Given the description of an element on the screen output the (x, y) to click on. 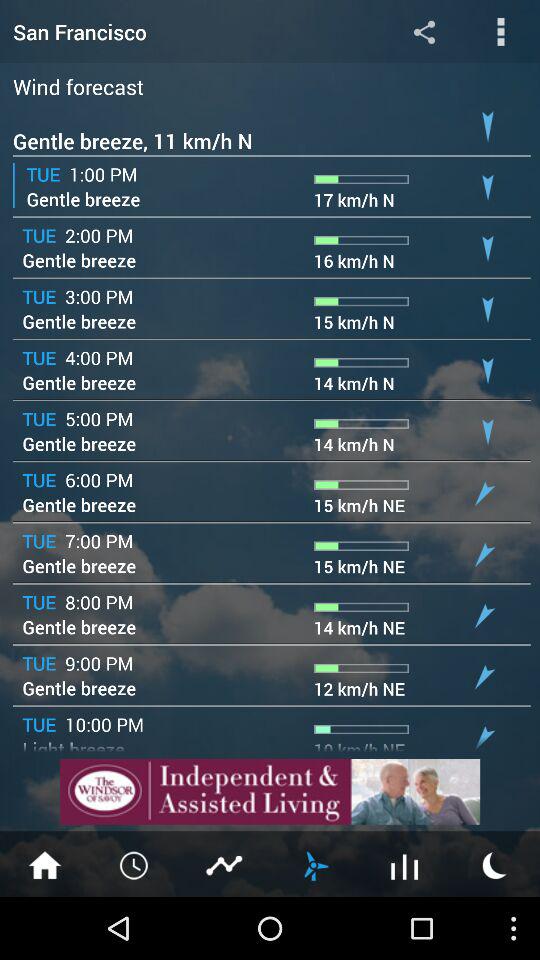
open android settings (424, 31)
